Given the description of an element on the screen output the (x, y) to click on. 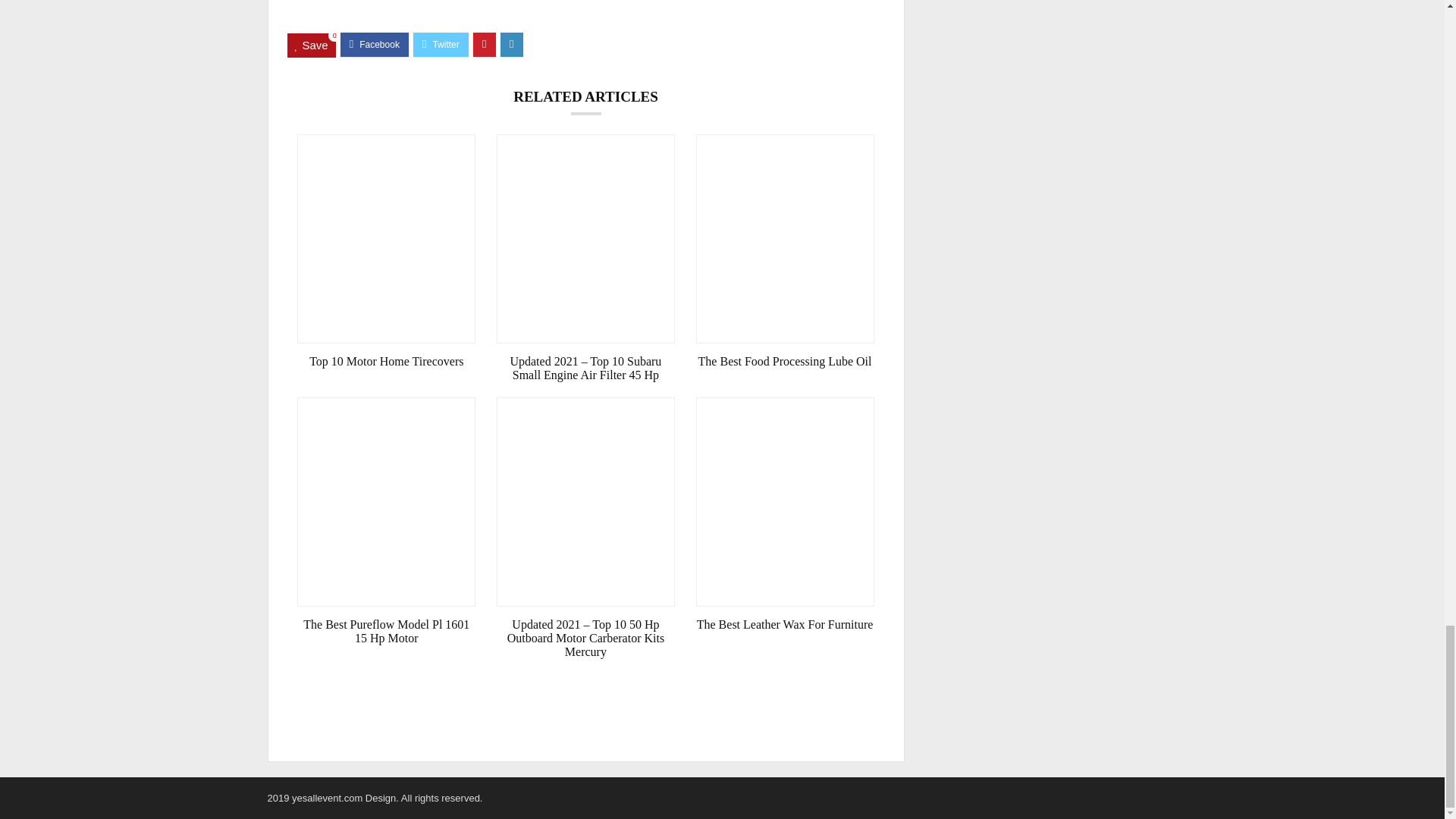
The Best Food Processing Lube Oil (785, 361)
The Best Leather Wax For Furniture (785, 624)
Top 10 Motor Home Tirecovers (386, 361)
The Best Pureflow Model Pl 1601 15 Hp Motor (386, 631)
